Given the description of an element on the screen output the (x, y) to click on. 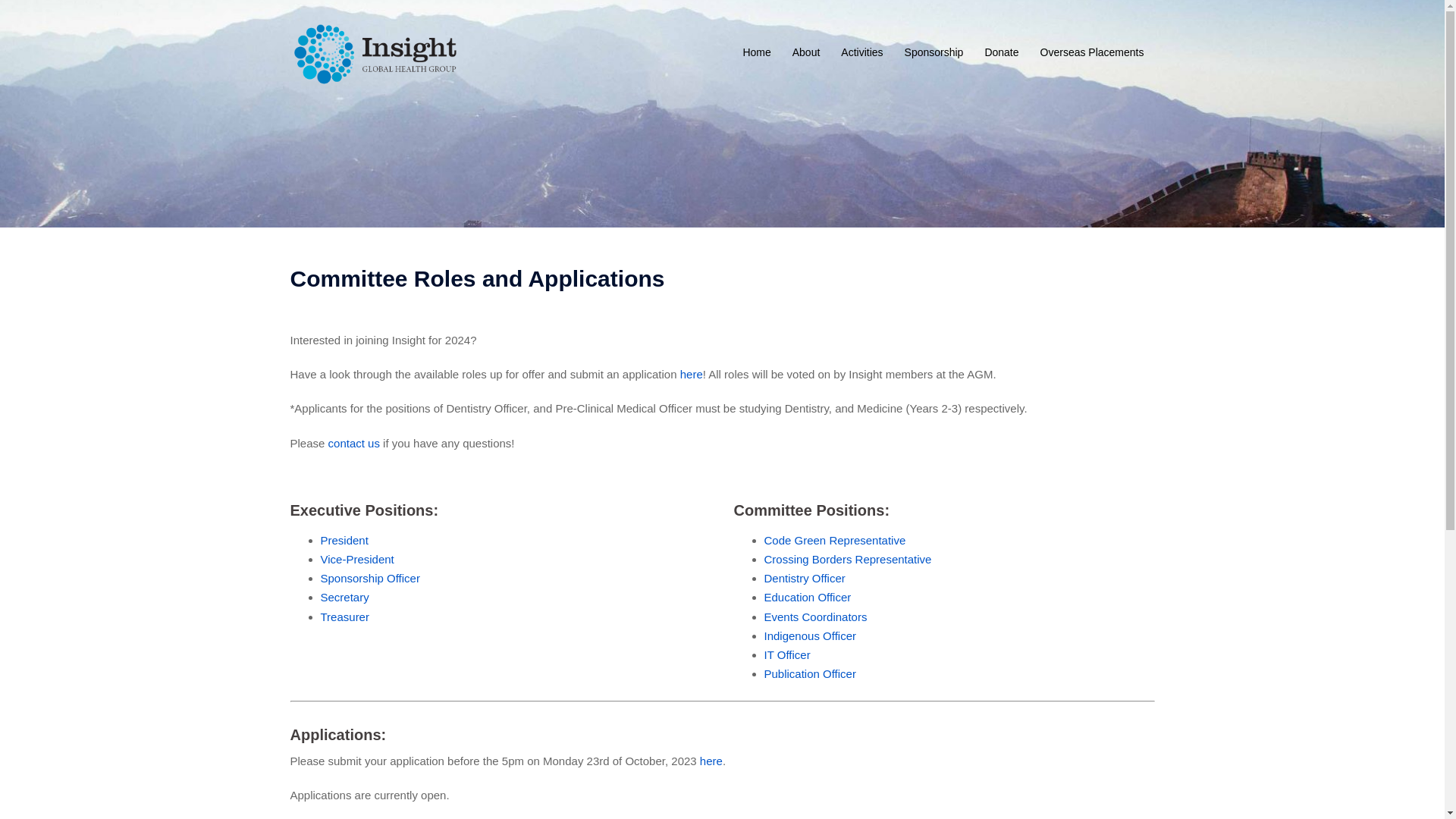
here Element type: text (710, 760)
Events Coordinators Element type: text (815, 615)
Home Element type: text (756, 52)
Donate Element type: text (1001, 52)
Sponsorship Officer Element type: text (369, 577)
Sponsorship Element type: text (933, 52)
Education Officer Element type: text (807, 596)
IT Officer Element type: text (787, 654)
Dentistry Officer Element type: text (804, 577)
contact us Element type: text (353, 442)
Crossing Borders Representative Element type: text (847, 558)
Activities Element type: text (861, 52)
here Element type: text (691, 373)
President Element type: text (343, 539)
Insight Global Health Element type: hover (375, 51)
Code Green Representative Element type: text (835, 539)
Publication Officer Element type: text (810, 673)
Treasurer Element type: text (344, 615)
About Element type: text (806, 52)
Secretary Element type: text (344, 596)
Vice-President Element type: text (356, 558)
Overseas Placements Element type: text (1092, 52)
Search Element type: text (49, 18)
Indigenous Officer Element type: text (810, 635)
